Given the description of an element on the screen output the (x, y) to click on. 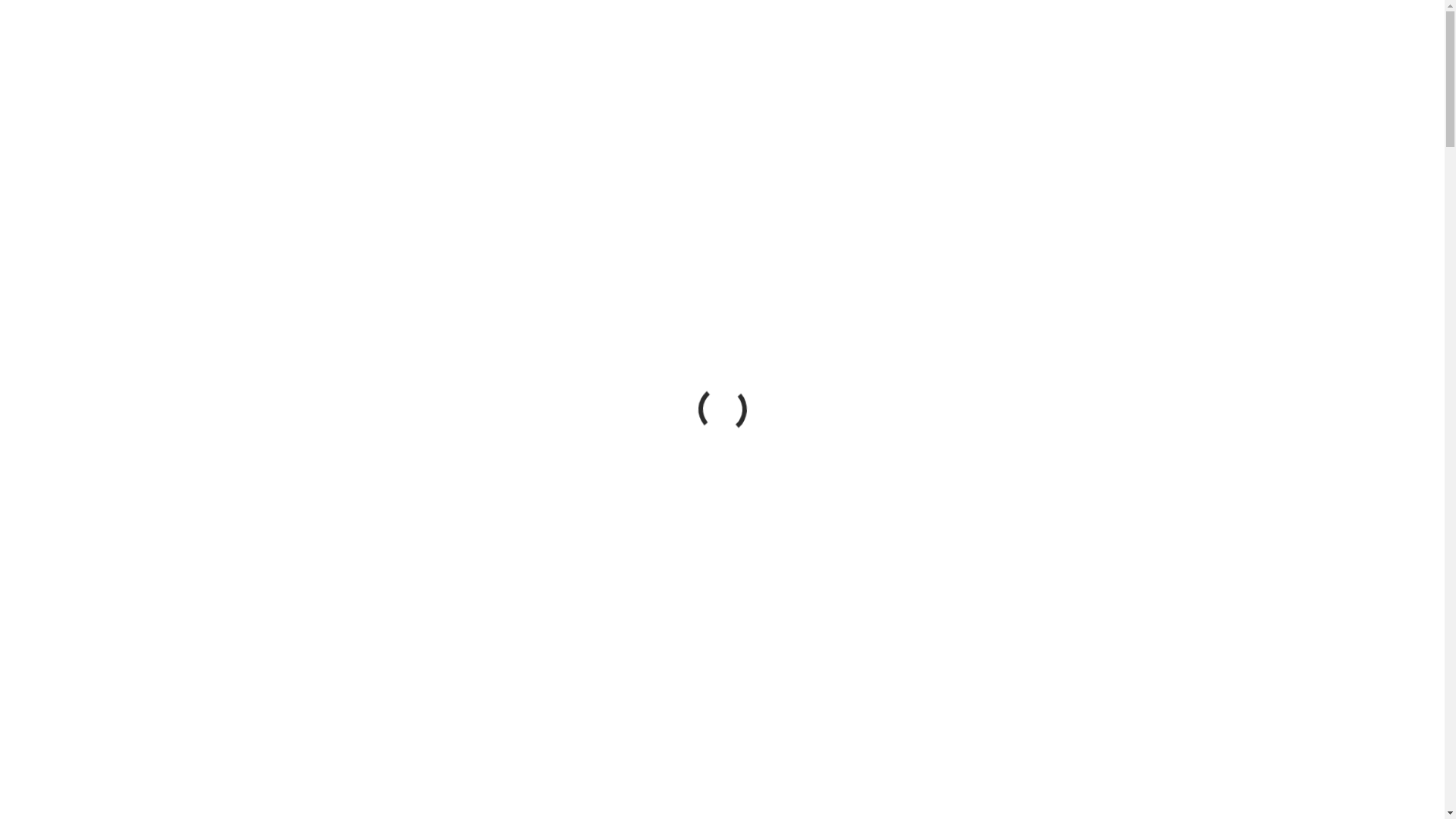
043 120 0956 Element type: text (968, 36)
Portfolio Element type: text (596, 37)
Resources Element type: text (770, 37)
Car of The Week Element type: text (680, 37)
Book Now Element type: text (1086, 36)
Why Us Element type: text (473, 37)
Services Element type: text (533, 37)
Contact Us Element type: text (846, 37)
